Given the description of an element on the screen output the (x, y) to click on. 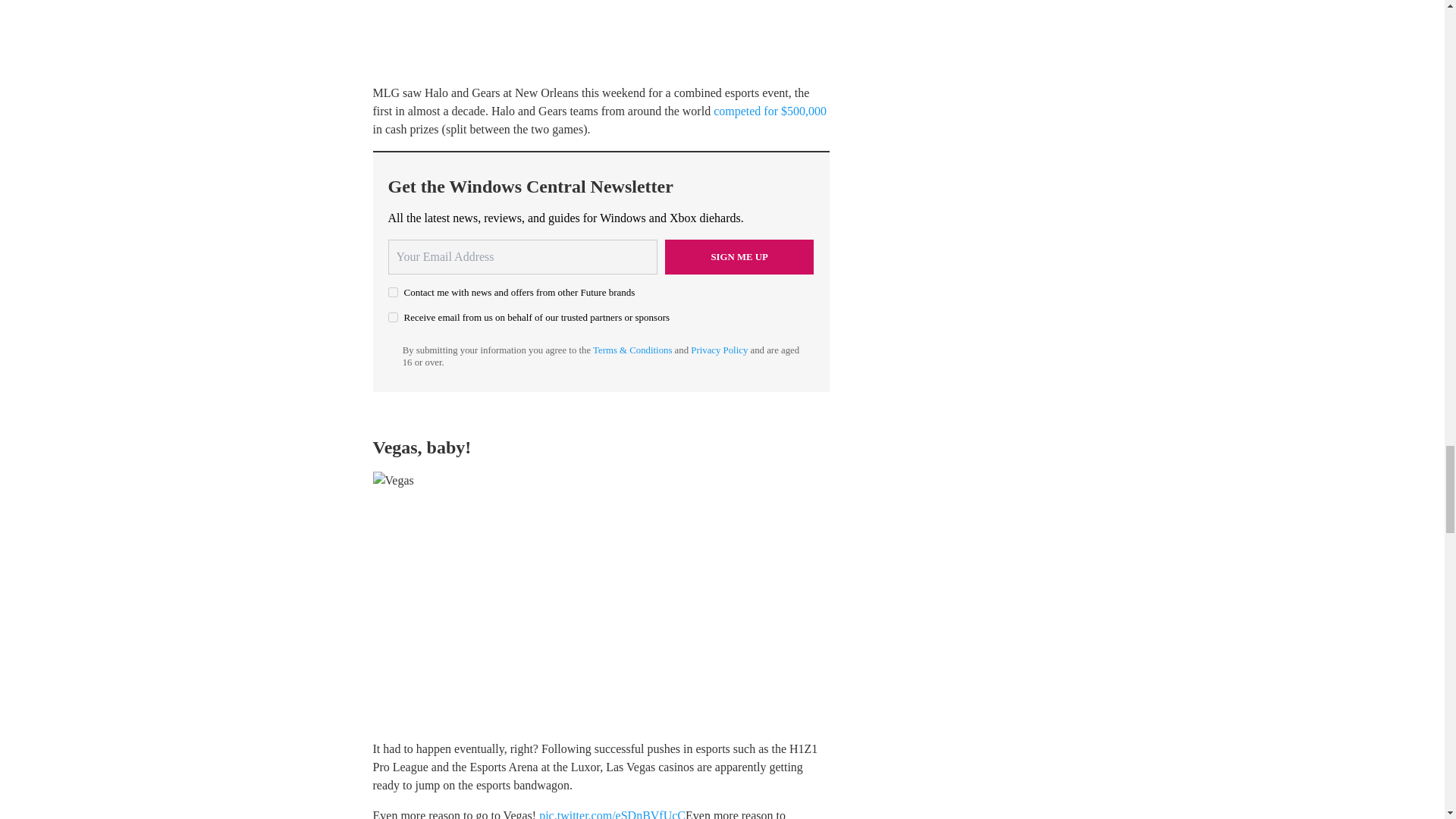
on (392, 292)
Sign me up (739, 256)
Privacy Policy (719, 349)
Sign me up (739, 256)
on (392, 317)
